Given the description of an element on the screen output the (x, y) to click on. 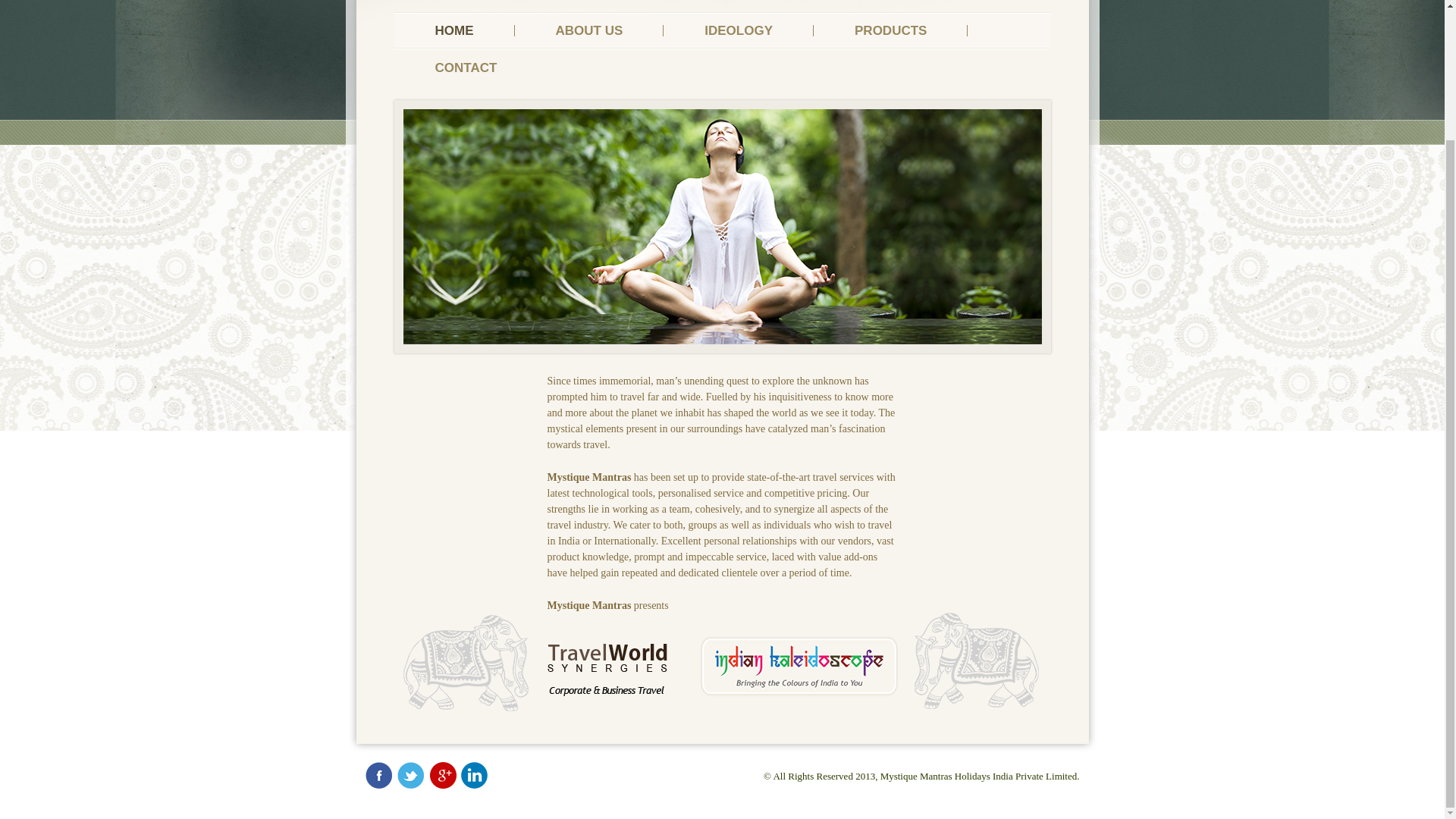
PRODUCTS (890, 30)
IDEOLOGY (738, 30)
CONTACT (466, 67)
HOME (454, 30)
ABOUT US (588, 30)
